Given the description of an element on the screen output the (x, y) to click on. 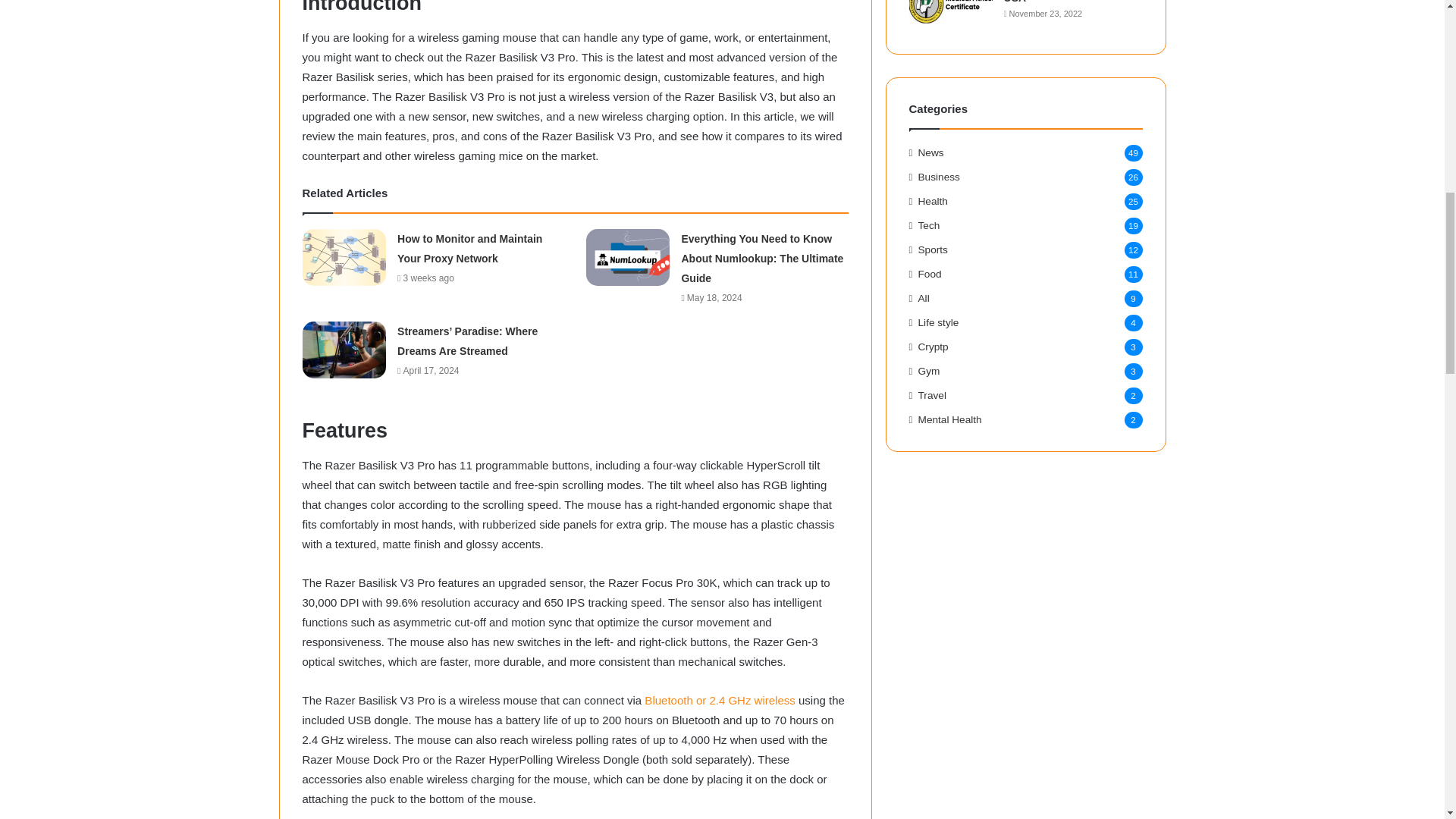
How to Monitor and Maintain Your Proxy Network (469, 248)
Bluetooth or 2.4 GHz wireless (718, 699)
